Given the description of an element on the screen output the (x, y) to click on. 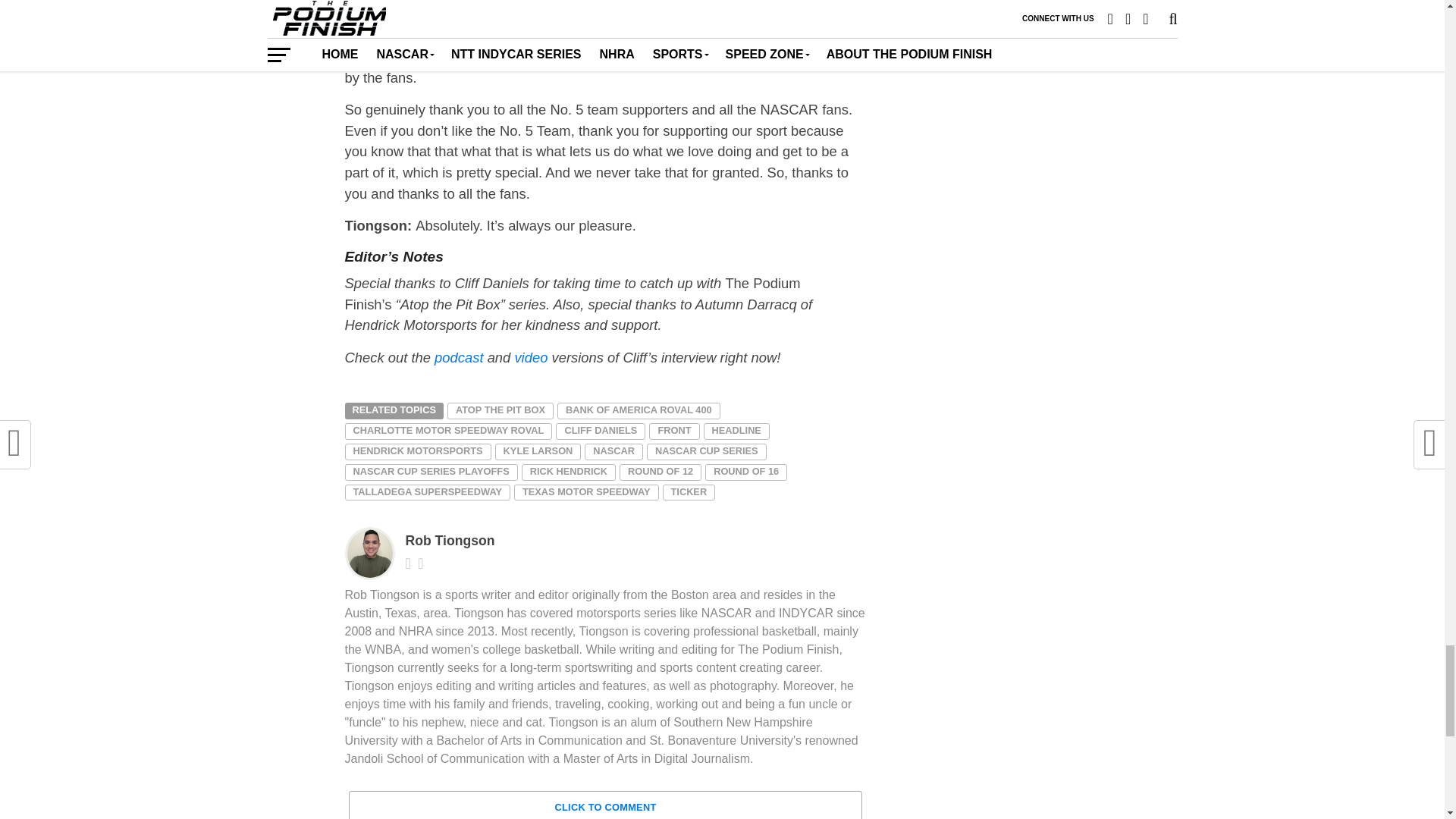
Posts by Rob Tiongson (449, 540)
